Given the description of an element on the screen output the (x, y) to click on. 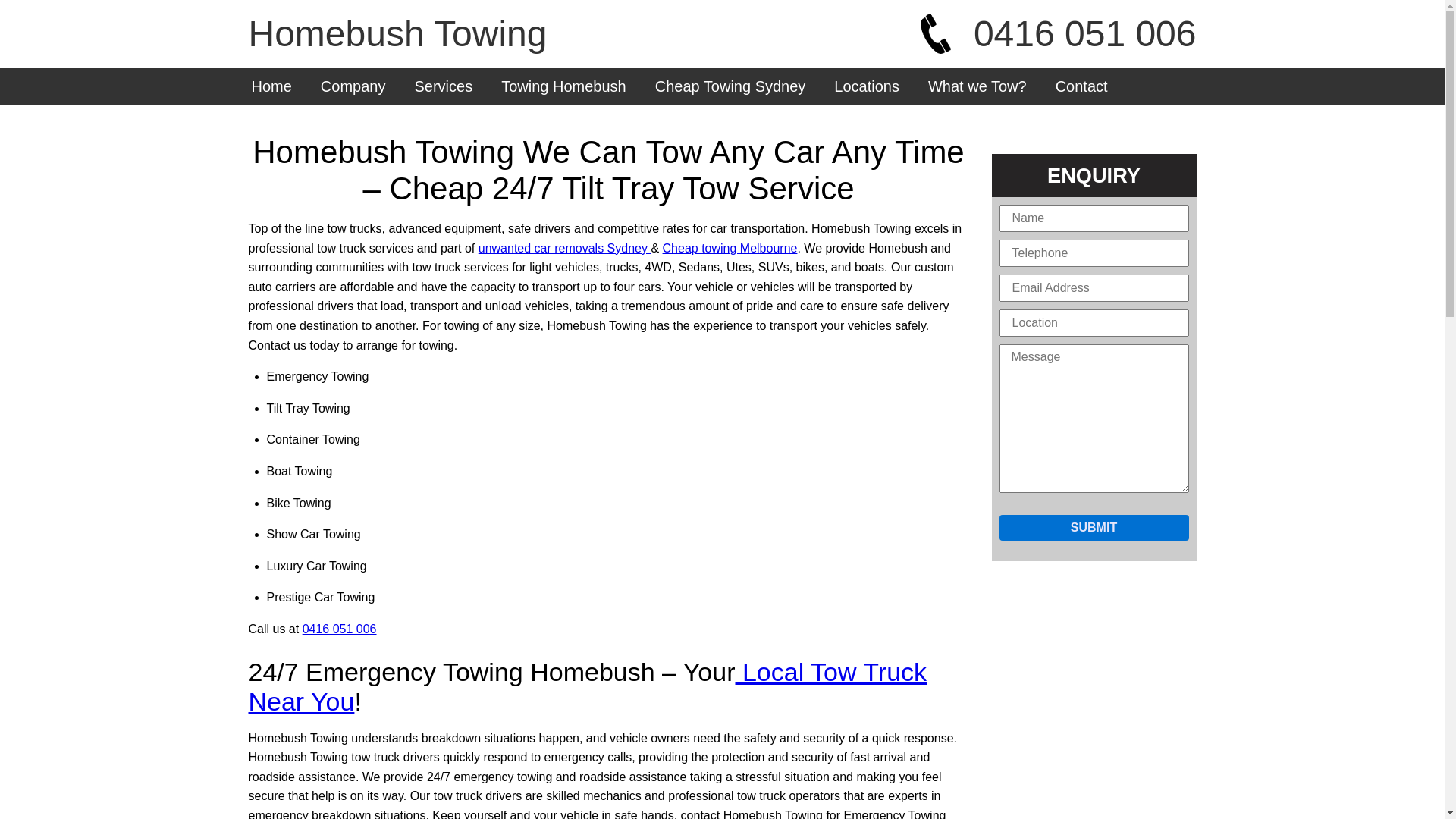
Contact Element type: text (1081, 86)
Cheap towing Melbourne Element type: text (729, 247)
Cheap Towing Sydney Element type: text (730, 86)
Company Element type: text (353, 86)
unwanted car removals Sydney Element type: text (564, 247)
Homebush Towing Element type: text (397, 33)
Towing Homebush Element type: text (563, 86)
What we Tow? Element type: text (977, 86)
SUBMIT Element type: text (1094, 527)
Locations Element type: text (866, 86)
0416 051 006 Element type: text (339, 628)
Services Element type: text (442, 86)
Home Element type: text (271, 86)
0416 051 006 Element type: text (1058, 33)
Local Tow Truck Near You Element type: text (587, 685)
